Given the description of an element on the screen output the (x, y) to click on. 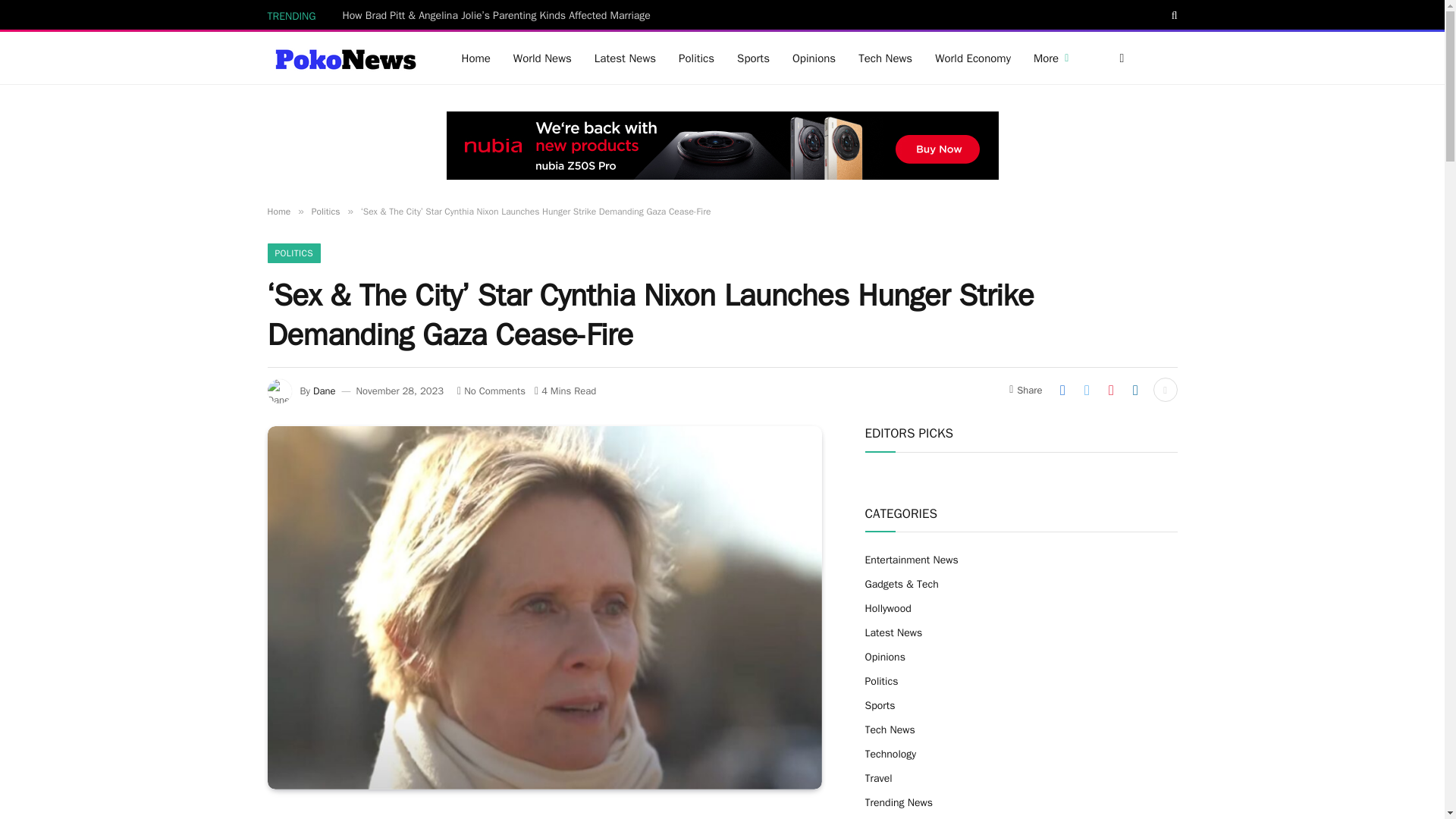
Switch to Dark Design - easier on eyes. (1119, 57)
Sports (752, 57)
Politics (695, 57)
World Economy (972, 57)
Search (1173, 15)
Tech News (885, 57)
More (1051, 57)
Share on Facebook (1062, 389)
Share on LinkedIn (1135, 389)
Home (475, 57)
Share on Pinterest (1110, 389)
World News (542, 57)
Latest News (624, 57)
PokoNews (344, 57)
Posts by Dane (324, 390)
